Given the description of an element on the screen output the (x, y) to click on. 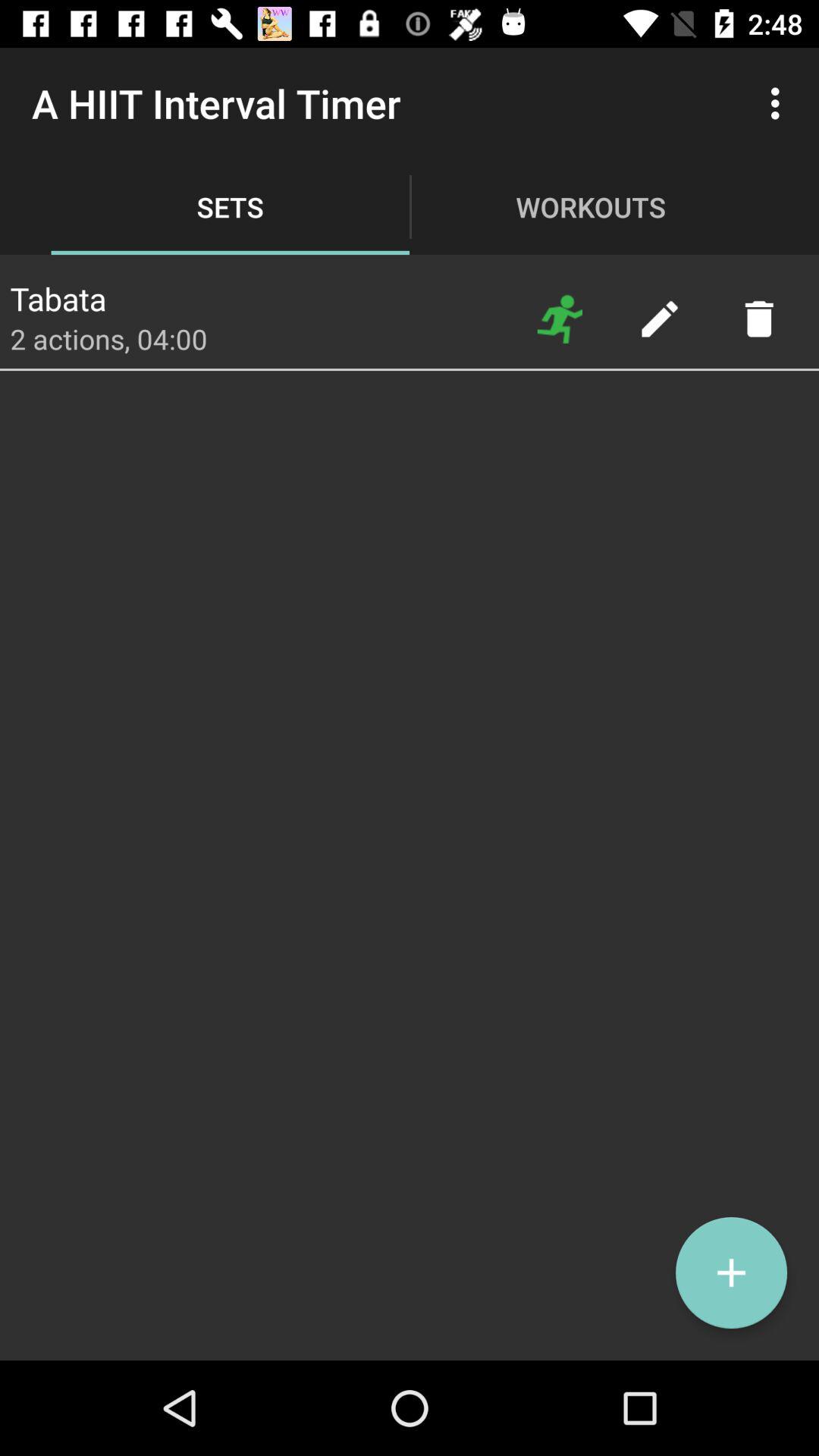
select item next to workouts item (779, 103)
